Given the description of an element on the screen output the (x, y) to click on. 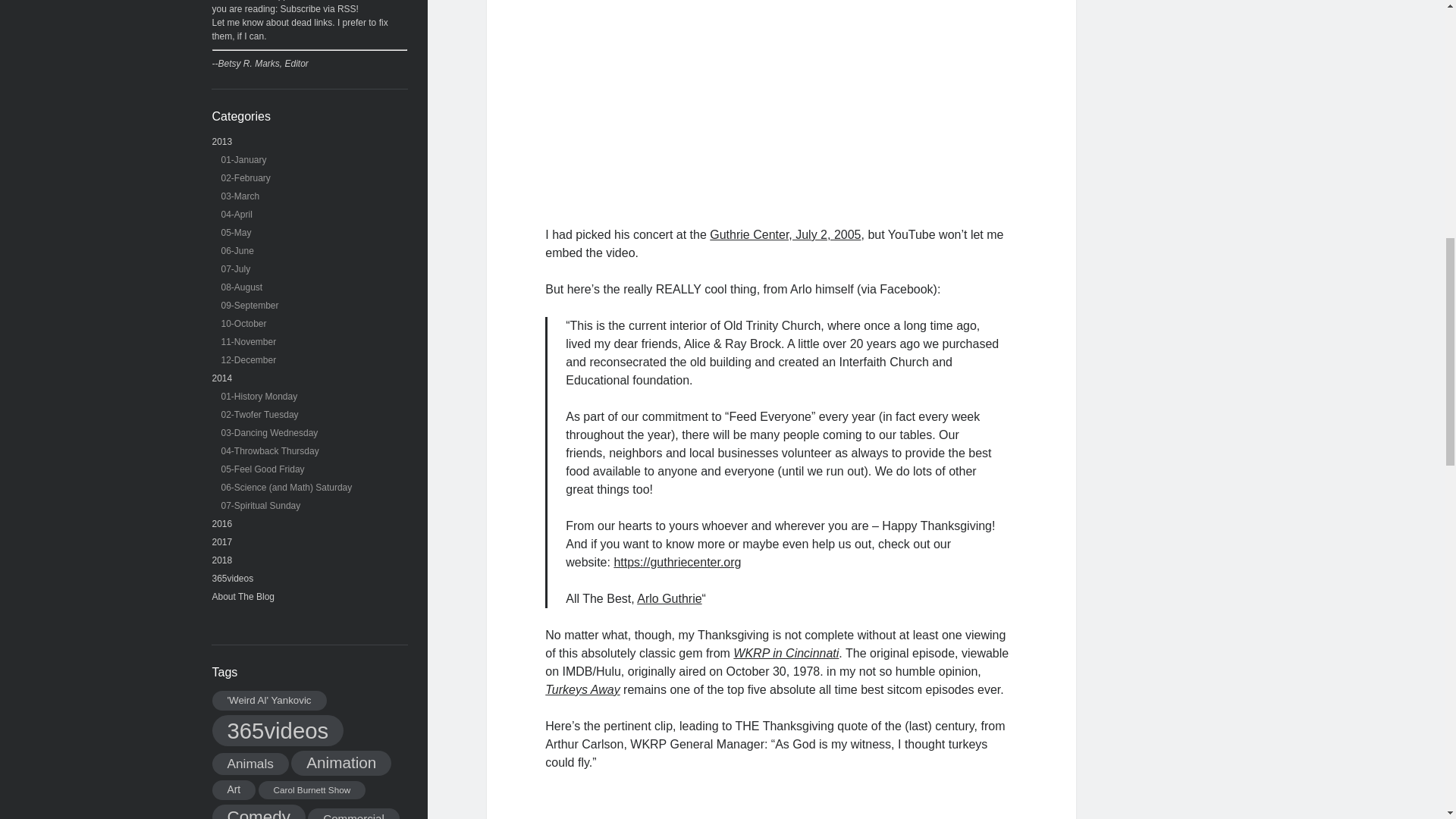
05-Feel Good Friday (262, 469)
04-Throwback Thursday (269, 450)
365videos (232, 578)
03-March (240, 195)
IMDB: WKRP in Cincinnati (785, 653)
12-December (248, 359)
02-February (245, 177)
09-September (250, 305)
01-History Monday (259, 396)
2016 (222, 523)
